Given the description of an element on the screen output the (x, y) to click on. 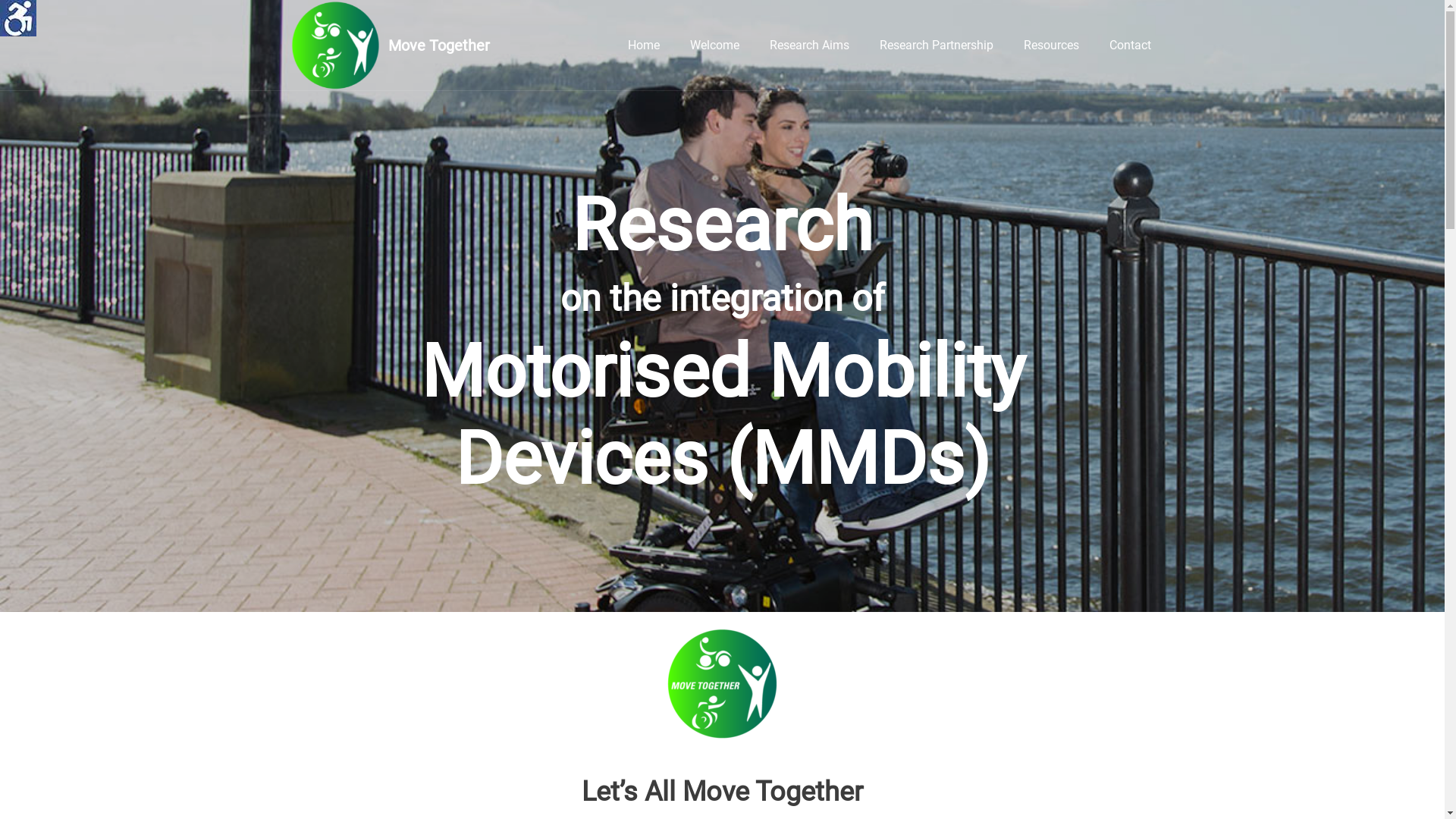
Research Partnership Element type: text (936, 45)
Contact Element type: text (1129, 45)
Home Element type: text (643, 45)
Welcome Element type: text (714, 45)
Research Aims Element type: text (808, 45)
Resources Element type: text (1051, 45)
Move Together Element type: text (389, 45)
Accessibility Helper sidebar Element type: hover (18, 18)
